Given the description of an element on the screen output the (x, y) to click on. 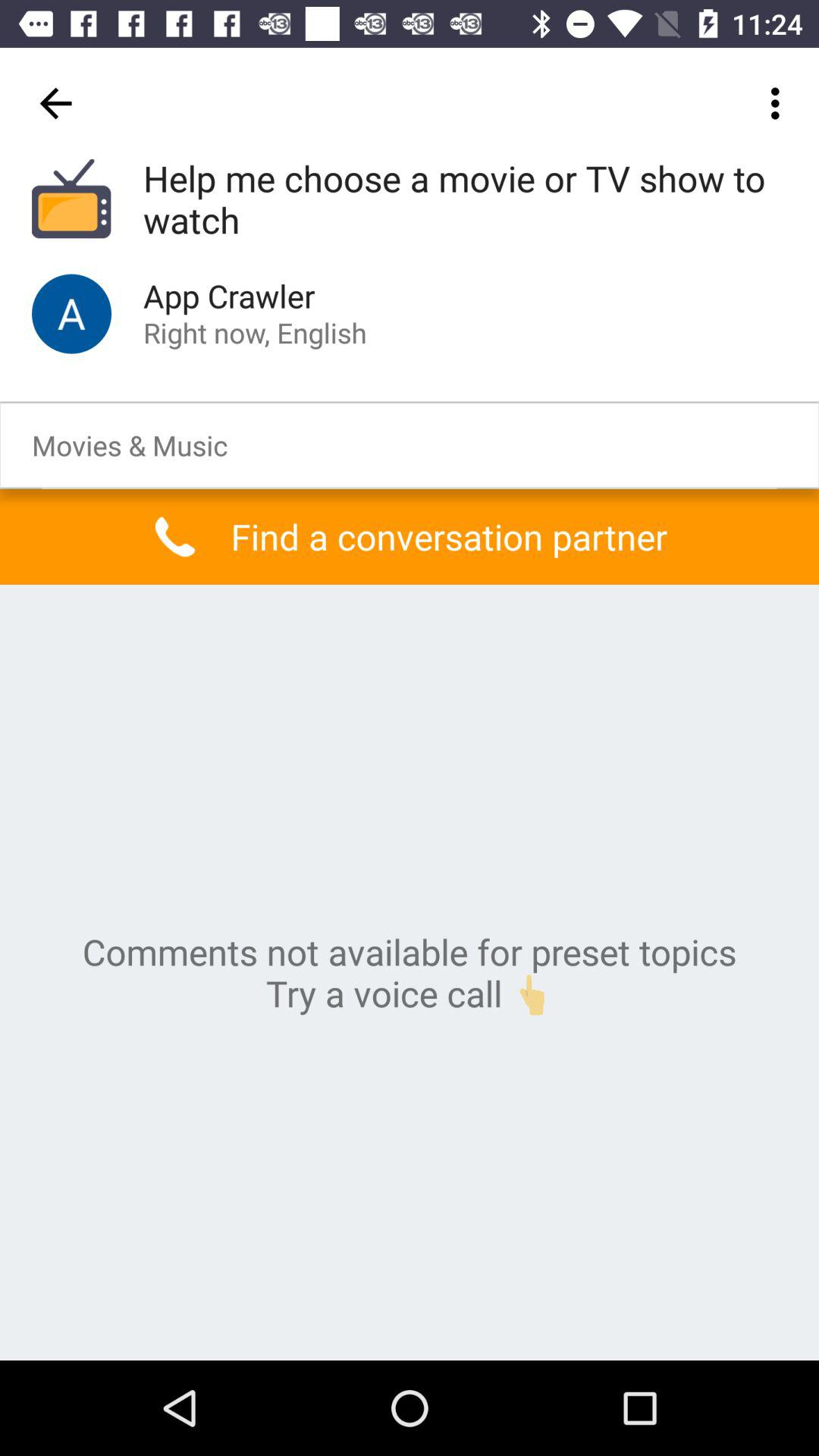
flip to help me choose item (465, 200)
